Given the description of an element on the screen output the (x, y) to click on. 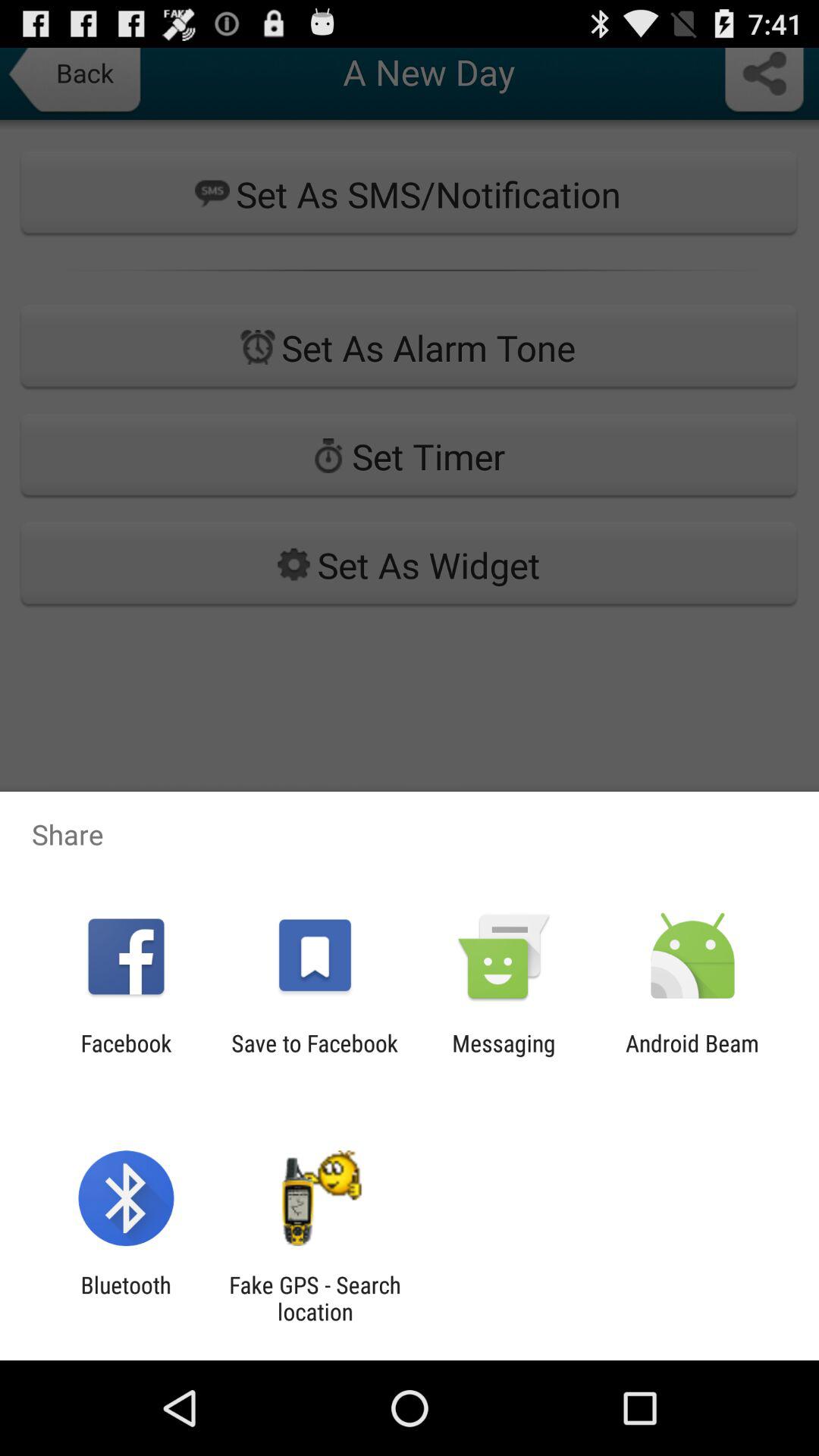
launch fake gps search item (314, 1298)
